Given the description of an element on the screen output the (x, y) to click on. 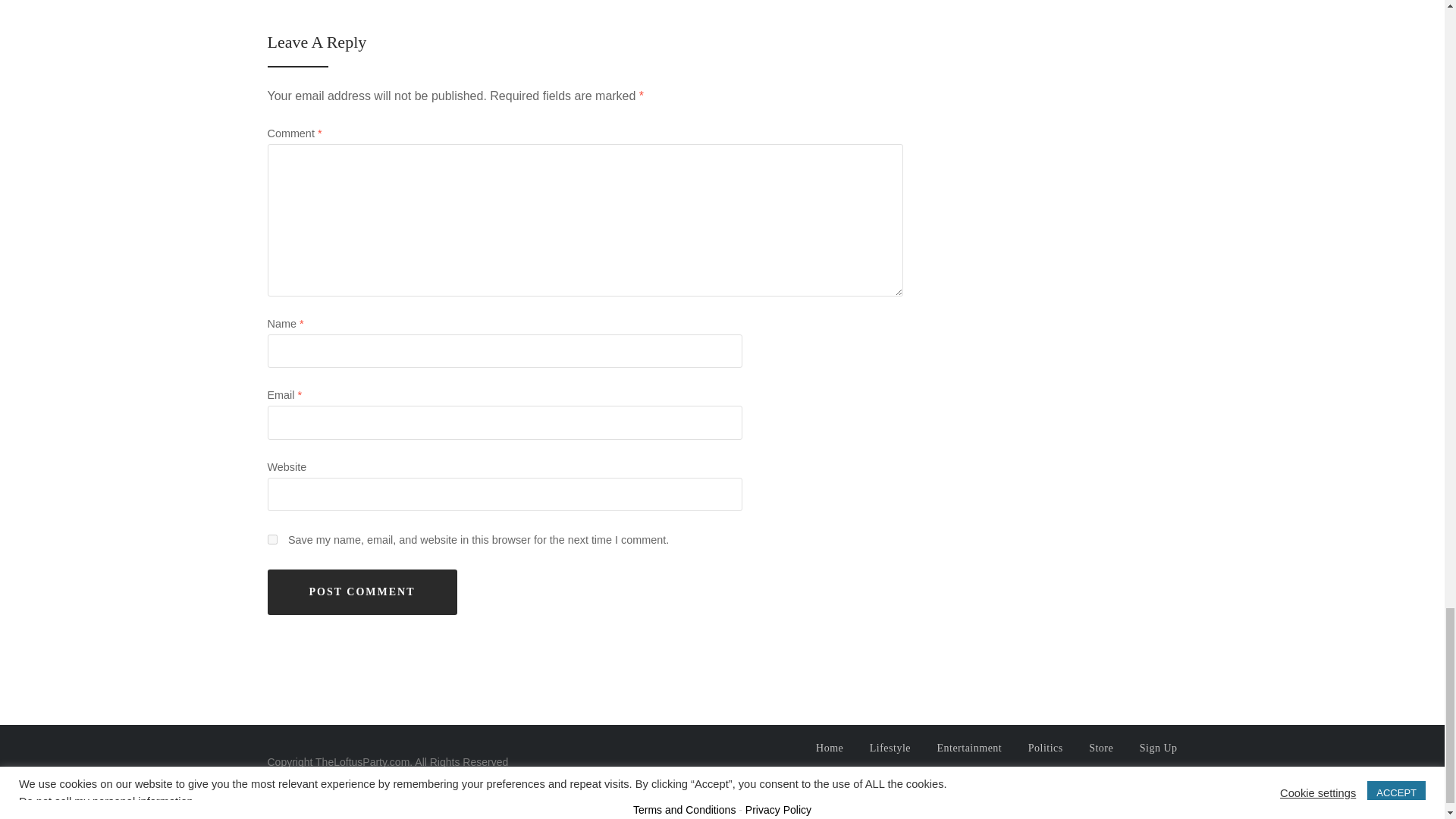
yes (271, 539)
Post Comment (361, 592)
